Given the description of an element on the screen output the (x, y) to click on. 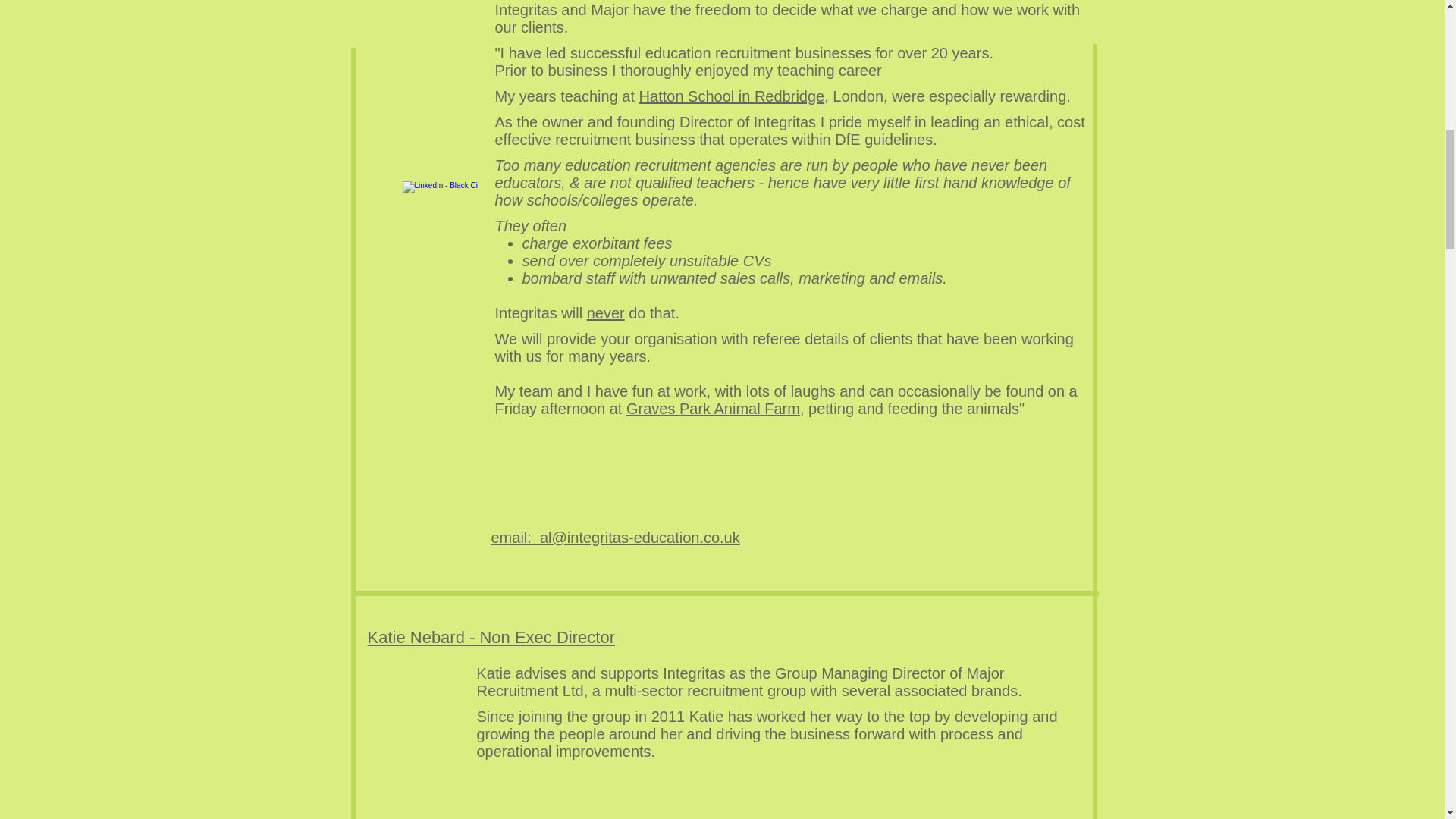
Katie Nebard - Non Exec Director (490, 637)
Hatton School in Redbridge, (733, 95)
Graves Park Animal Farm (712, 408)
